Given the description of an element on the screen output the (x, y) to click on. 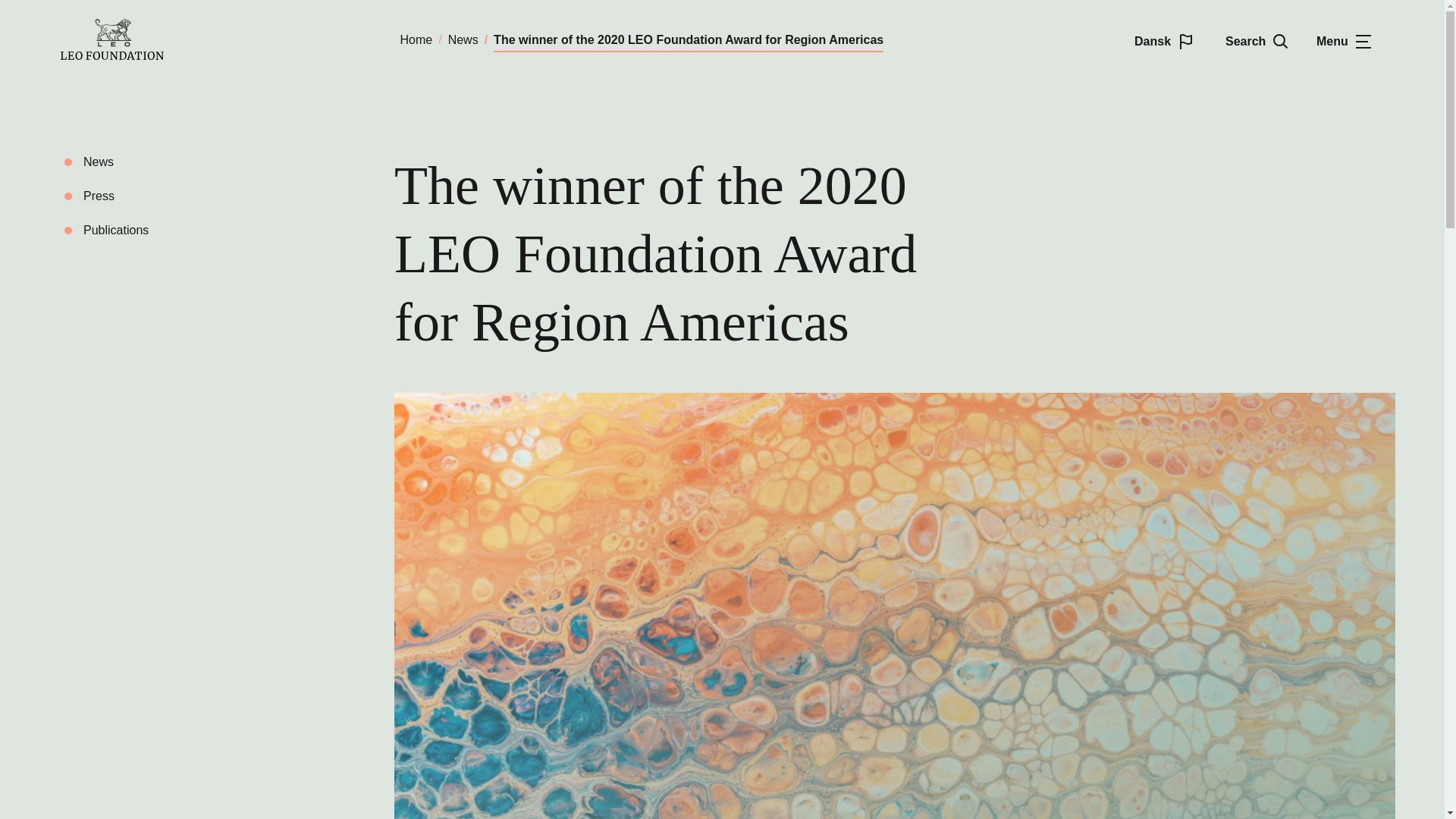
Menu (1349, 40)
Press (98, 195)
Search (1258, 40)
Dansk (1167, 40)
News (463, 39)
News (97, 161)
Publications (115, 229)
LEO Foundation (196, 38)
Home (416, 39)
